Given the description of an element on the screen output the (x, y) to click on. 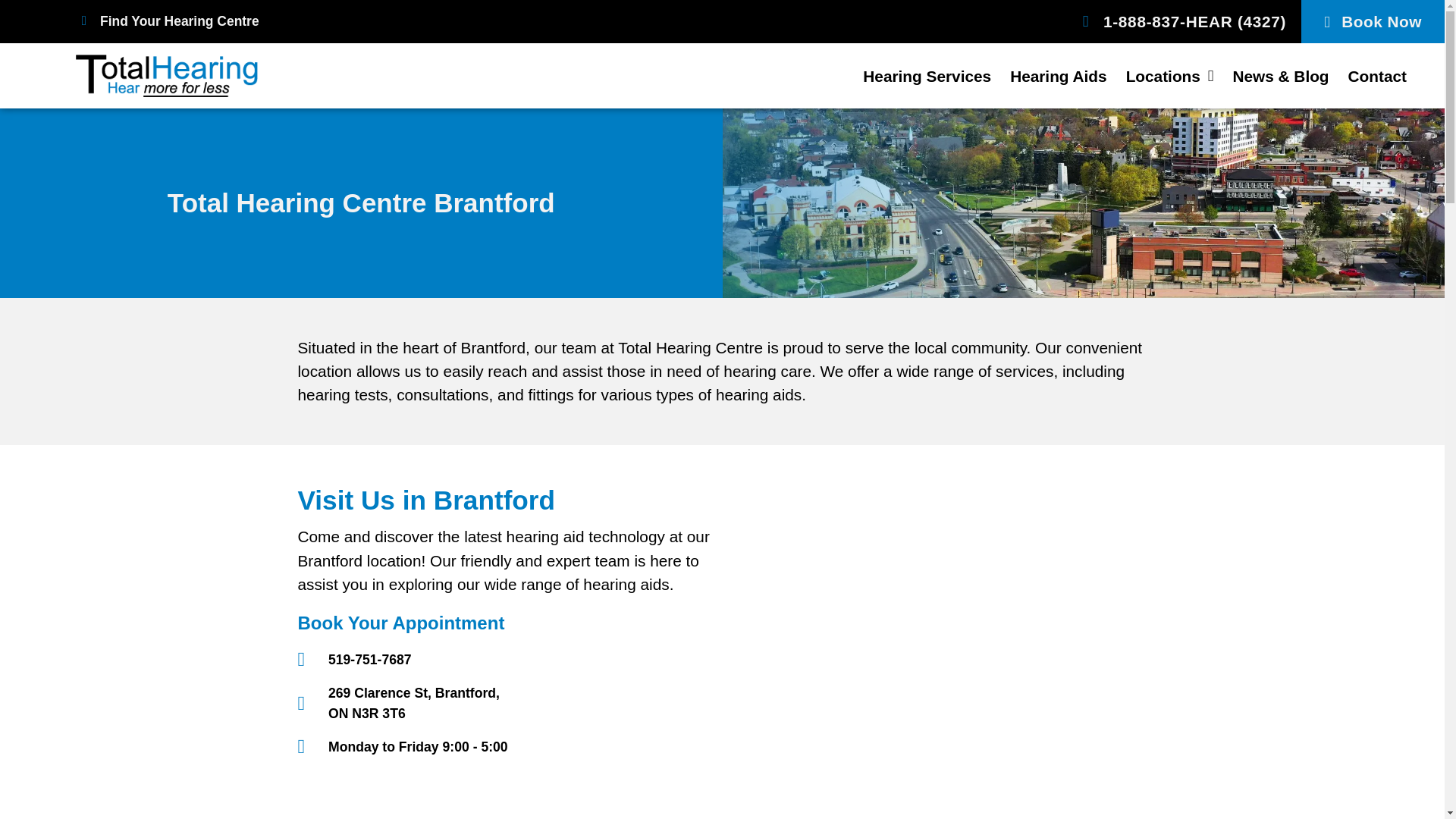
Hearing Services (927, 76)
Locations (1169, 76)
total-hearing-logo (166, 75)
Hearing Aids (1058, 76)
Find Your Hearing Centre (167, 21)
Contact (1377, 76)
519-751-7687 (353, 659)
